Given the description of an element on the screen output the (x, y) to click on. 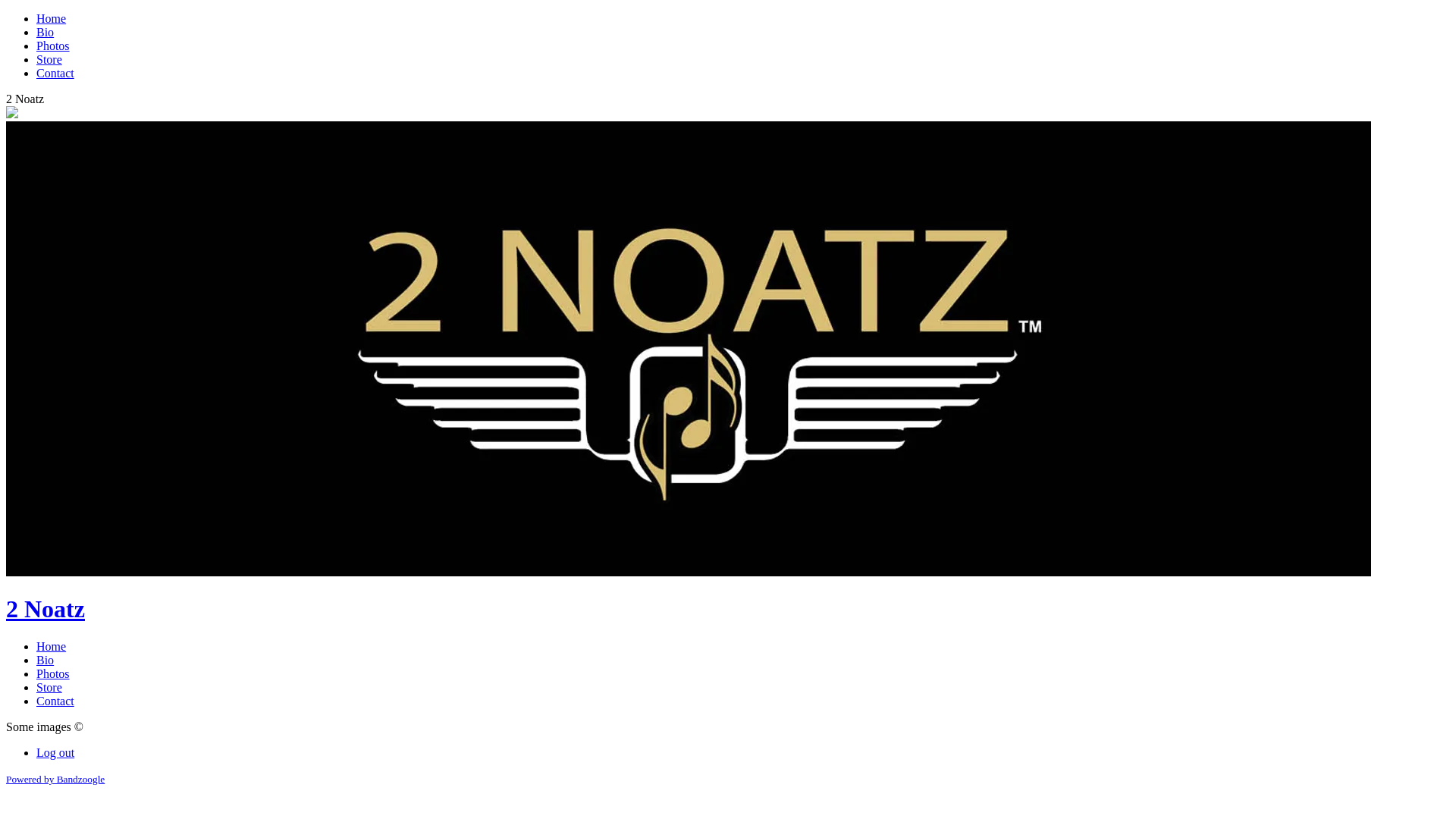
Bio Element type: text (44, 659)
Photos Element type: text (52, 45)
Powered by Bandzoogle Element type: text (55, 778)
Contact Element type: text (55, 700)
Photos Element type: text (52, 673)
Home Element type: text (50, 18)
Contact Element type: text (55, 72)
Bio Element type: text (44, 31)
Log out Element type: text (55, 752)
2 Noatz Element type: text (45, 608)
Home Element type: text (50, 646)
Store Element type: text (49, 59)
Store Element type: text (49, 686)
